Given the description of an element on the screen output the (x, y) to click on. 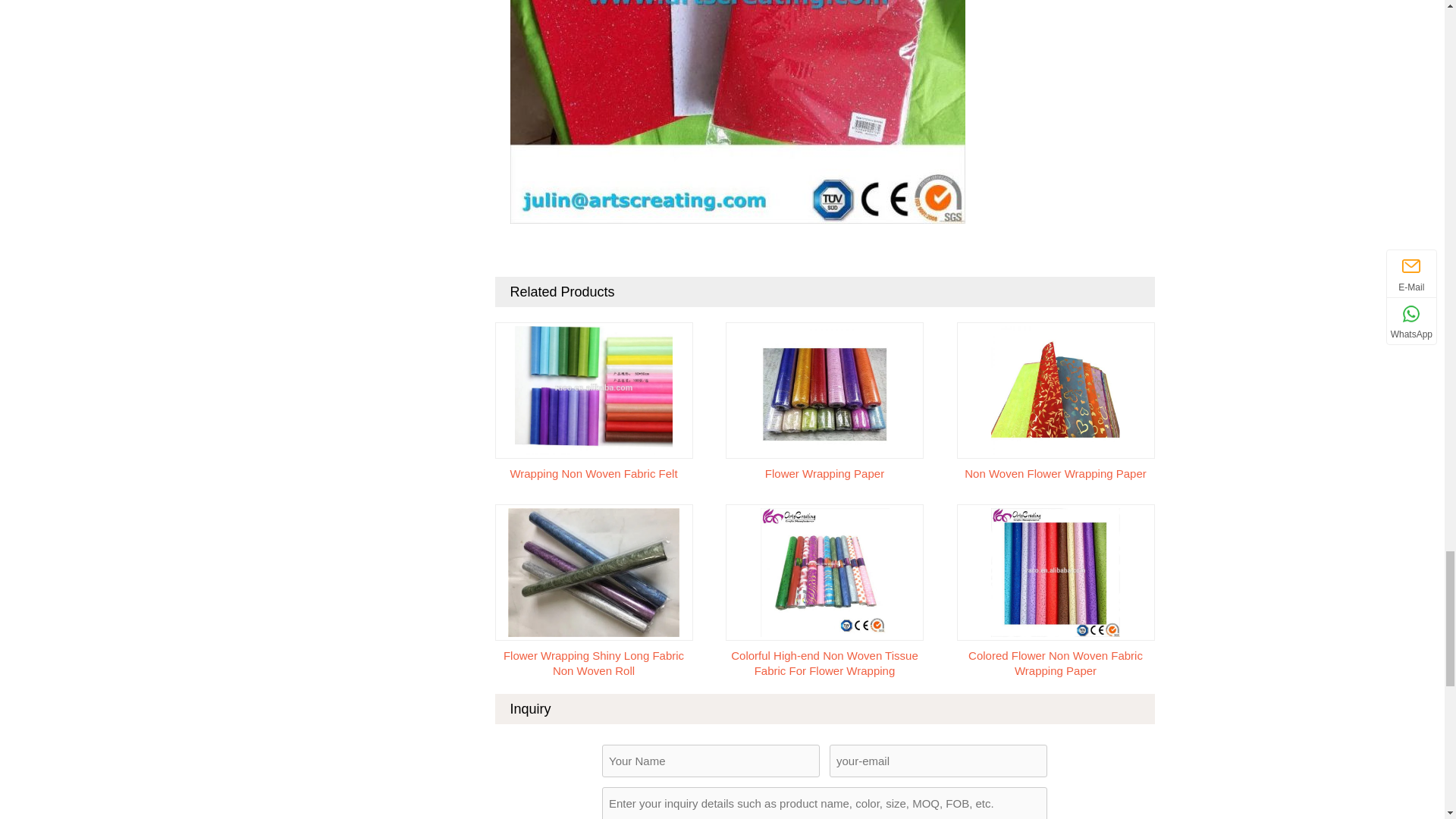
Flower Wrapping Shiny Long Fabric Non Woven Roll (593, 571)
Flower Wrapping Paper (824, 389)
Wrapping Non Woven Fabric Felt (593, 389)
Colored Flower Non Woven Fabric Wrapping Paper (1055, 571)
Non Woven Flower Wrapping Paper (1055, 389)
